Given the description of an element on the screen output the (x, y) to click on. 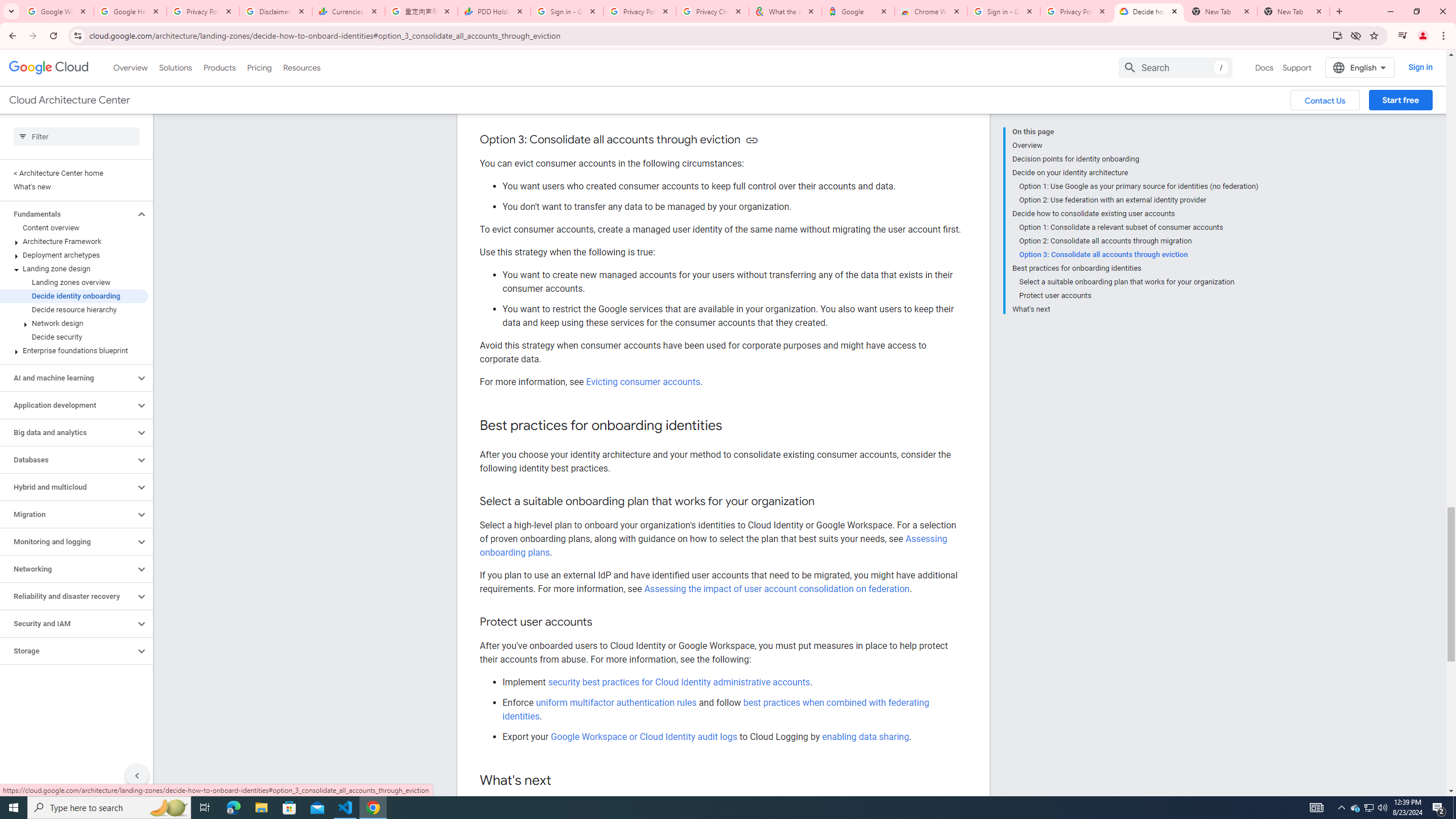
Storage (67, 650)
Content overview (74, 228)
< Architecture Center home (74, 173)
Copy link to this section: Protect user accounts (603, 622)
Databases (67, 459)
Google Workspace or Cloud Identity audit logs (644, 736)
